Given the description of an element on the screen output the (x, y) to click on. 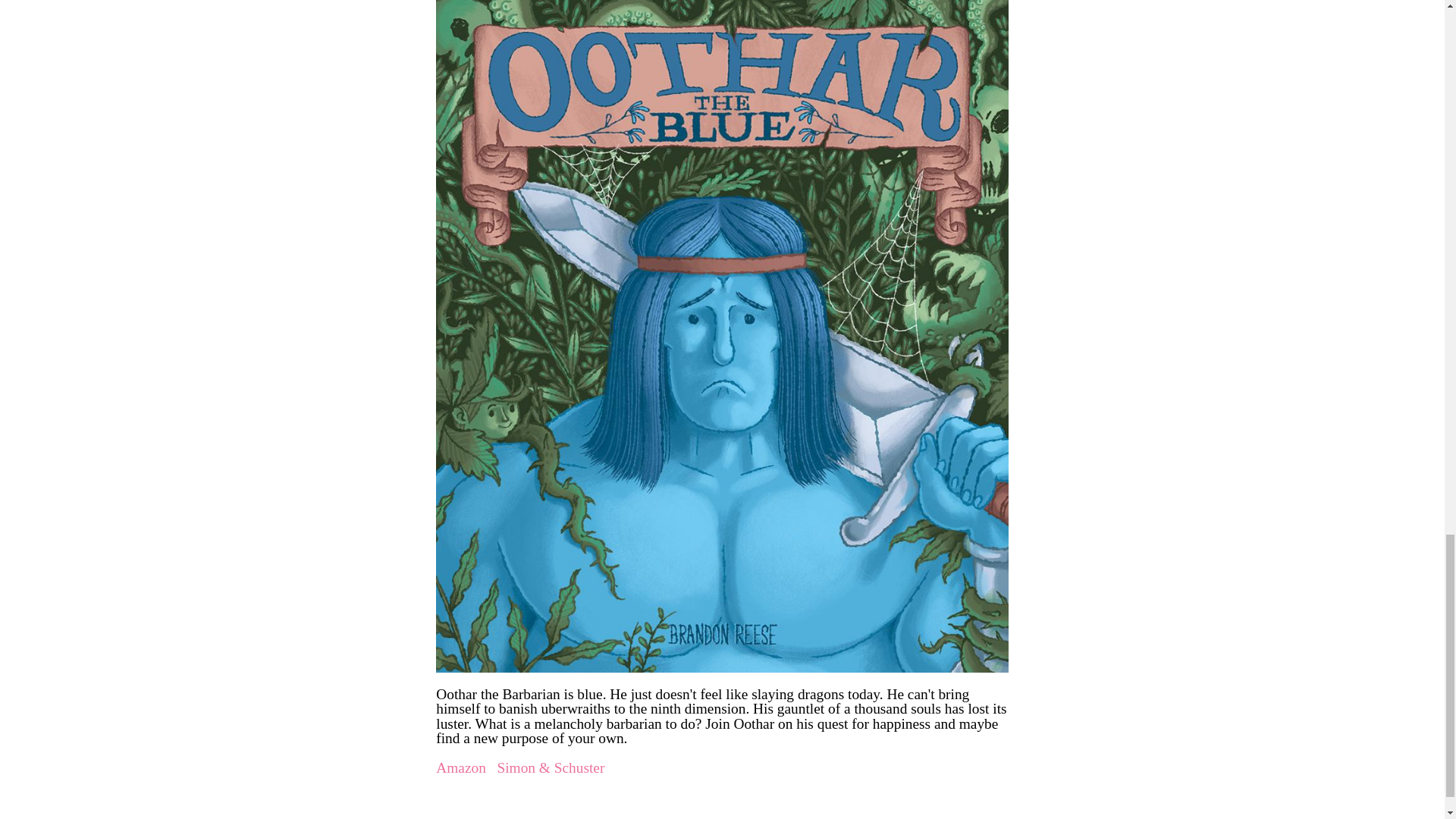
Amazon (460, 767)
